Given the description of an element on the screen output the (x, y) to click on. 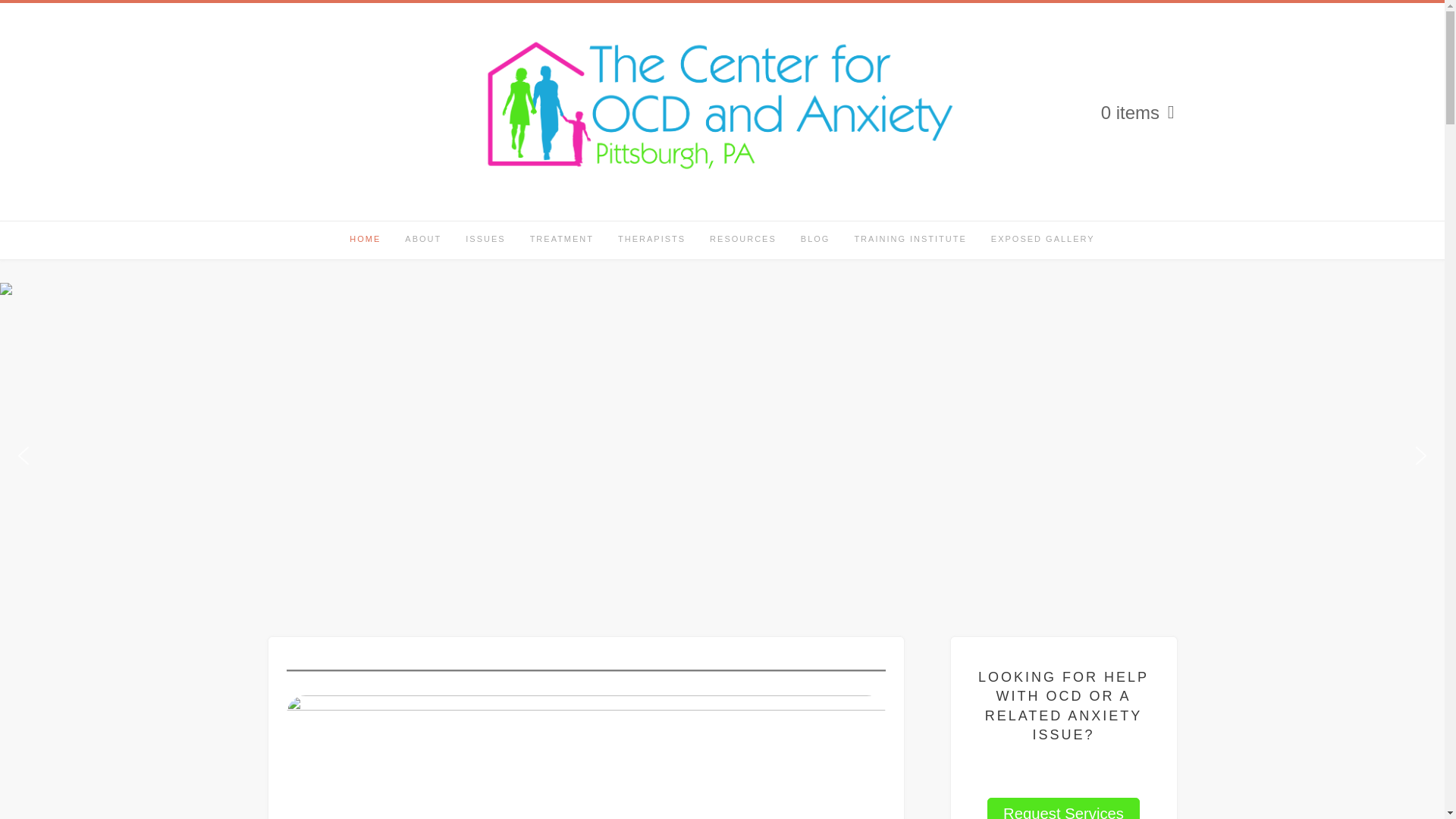
TRAINING INSTITUTE (909, 240)
BLOG (816, 240)
0 items (1137, 112)
ABOUT (422, 240)
View your shopping cart (1137, 112)
ISSUES (484, 240)
RESOURCES (743, 240)
THERAPISTS (651, 240)
HOME (365, 240)
TREATMENT (561, 240)
